Given the description of an element on the screen output the (x, y) to click on. 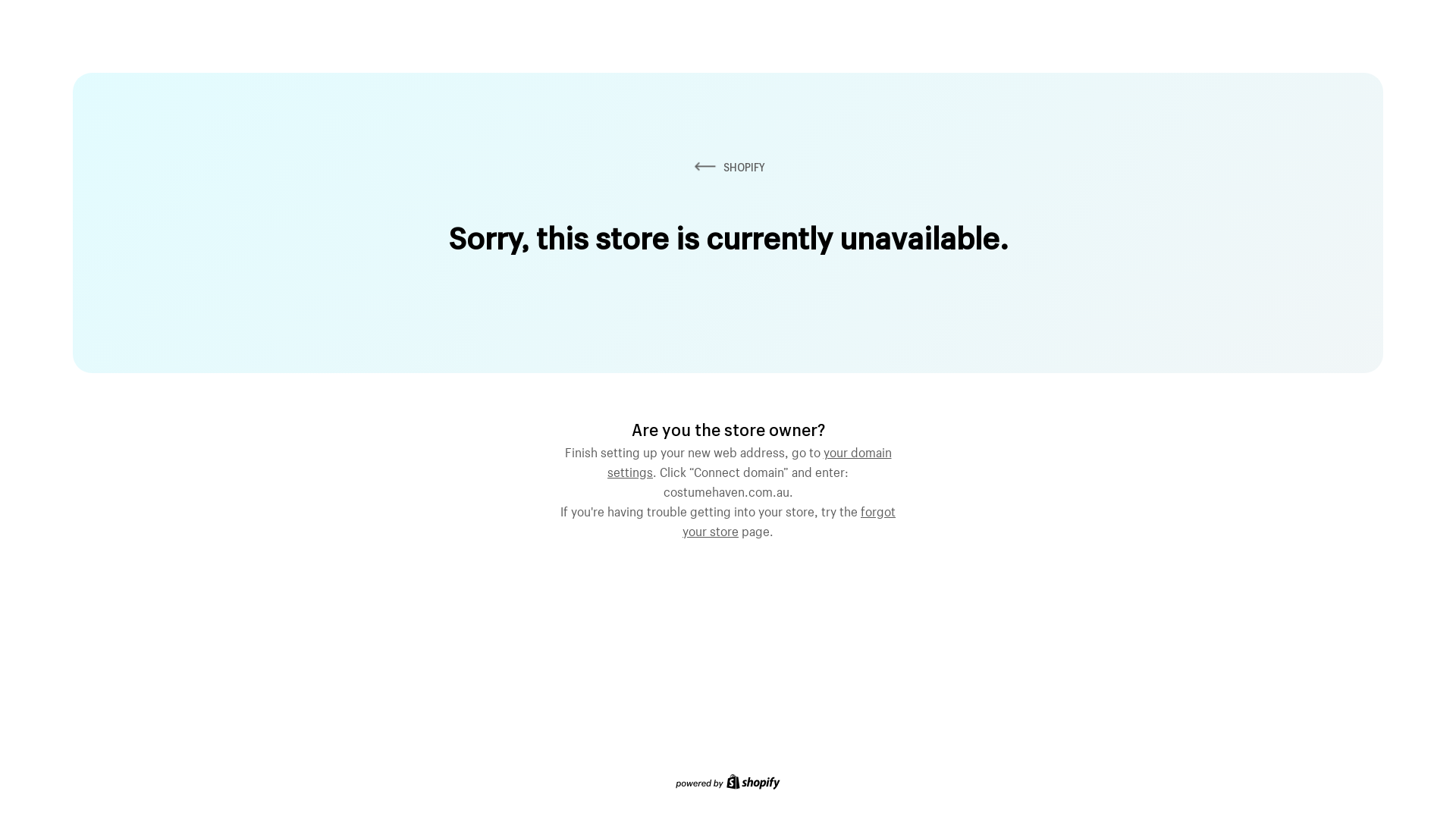
your domain settings Element type: text (749, 460)
forgot your store Element type: text (788, 519)
SHOPIFY Element type: text (727, 167)
